Given the description of an element on the screen output the (x, y) to click on. 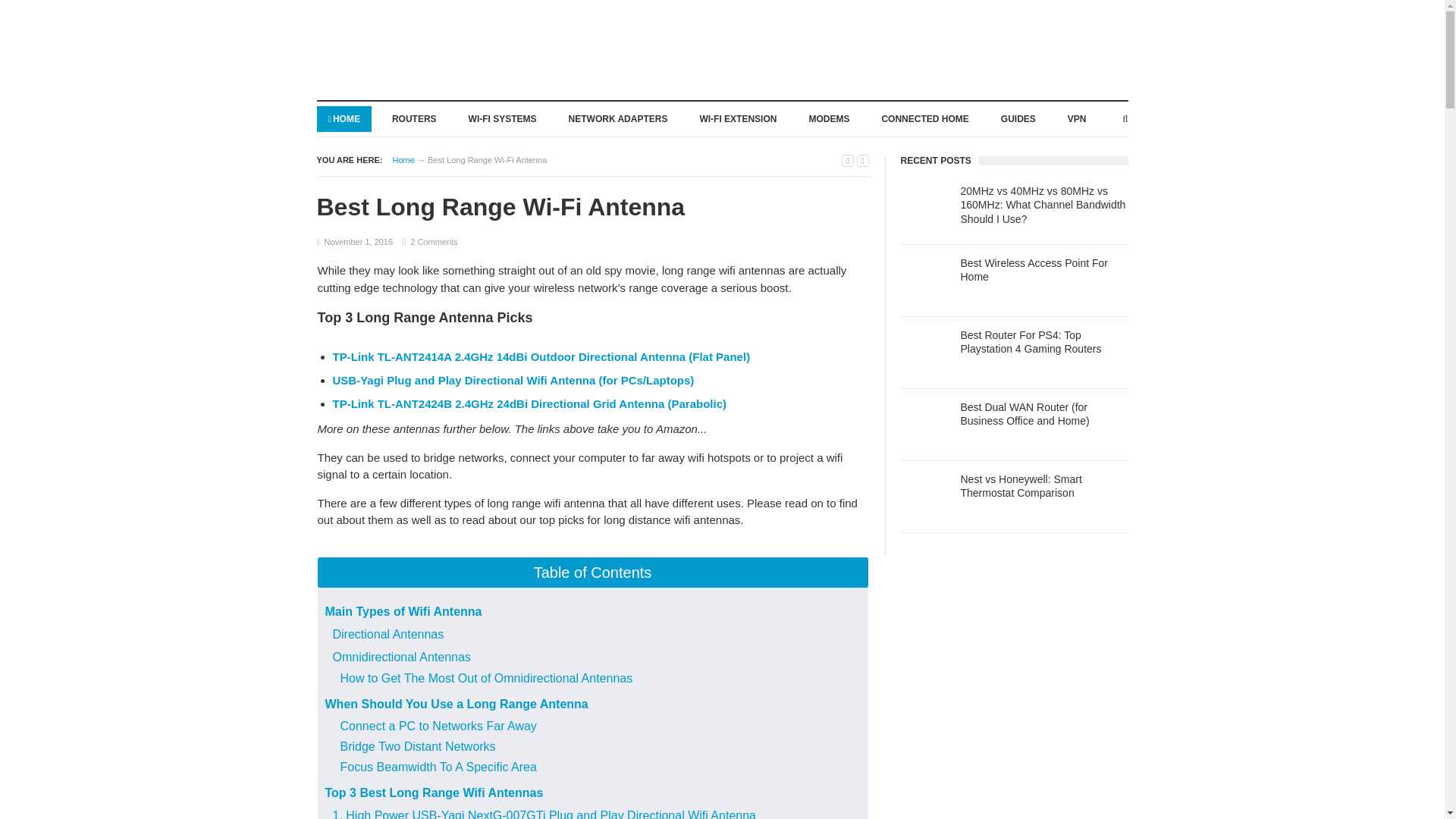
MODEMS (828, 118)
HOME (344, 118)
Top 3 Best Long Range Wifi Antennas (433, 792)
VPN (1077, 118)
Focus Beamwidth To A Specific Area (437, 766)
2 Comments (433, 241)
Directional Antennas (387, 634)
Home (403, 158)
bestwirelessroutersnow.com (403, 158)
CONNECTED HOME (924, 118)
Bridge Two Distant Networks (417, 746)
Connect a PC to Networks Far Away (437, 725)
When Should You Use a Long Range Antenna (456, 703)
Tuesday, November 1, 2016, 1:02 am (358, 241)
